Given the description of an element on the screen output the (x, y) to click on. 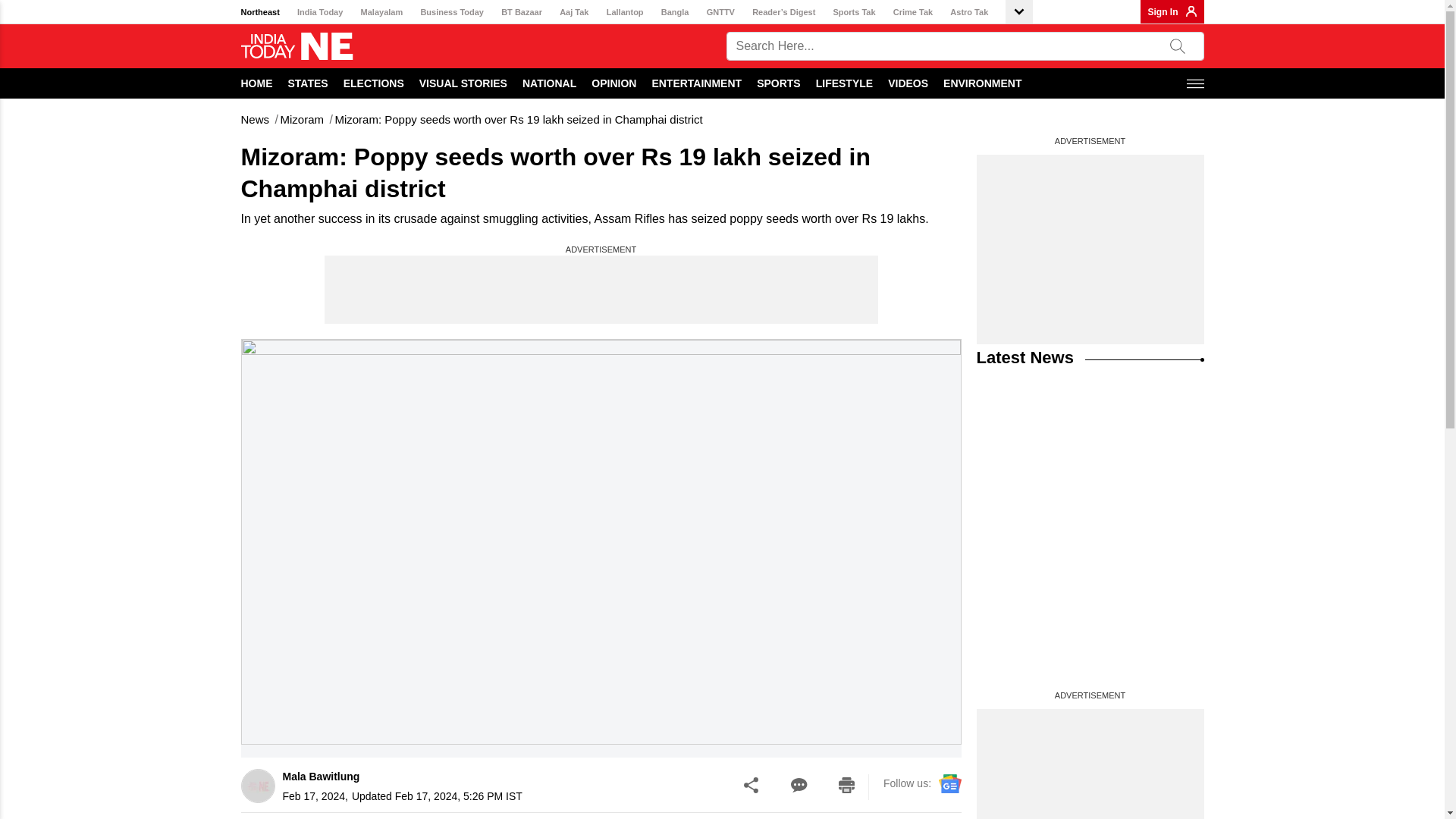
OPINION (613, 82)
Bangla (674, 12)
ENTERTAINMENT (695, 82)
Aaj Tak (573, 12)
Sports Tak (854, 12)
India Today (319, 12)
Astro Tak (969, 12)
Crime Tak (913, 12)
Lallantop (625, 12)
Sign In (1162, 11)
VISUAL STORIES (462, 82)
BT Bazaar (520, 12)
Crime Tak (913, 12)
NATIONAL (549, 82)
Malayalam (382, 12)
